Given the description of an element on the screen output the (x, y) to click on. 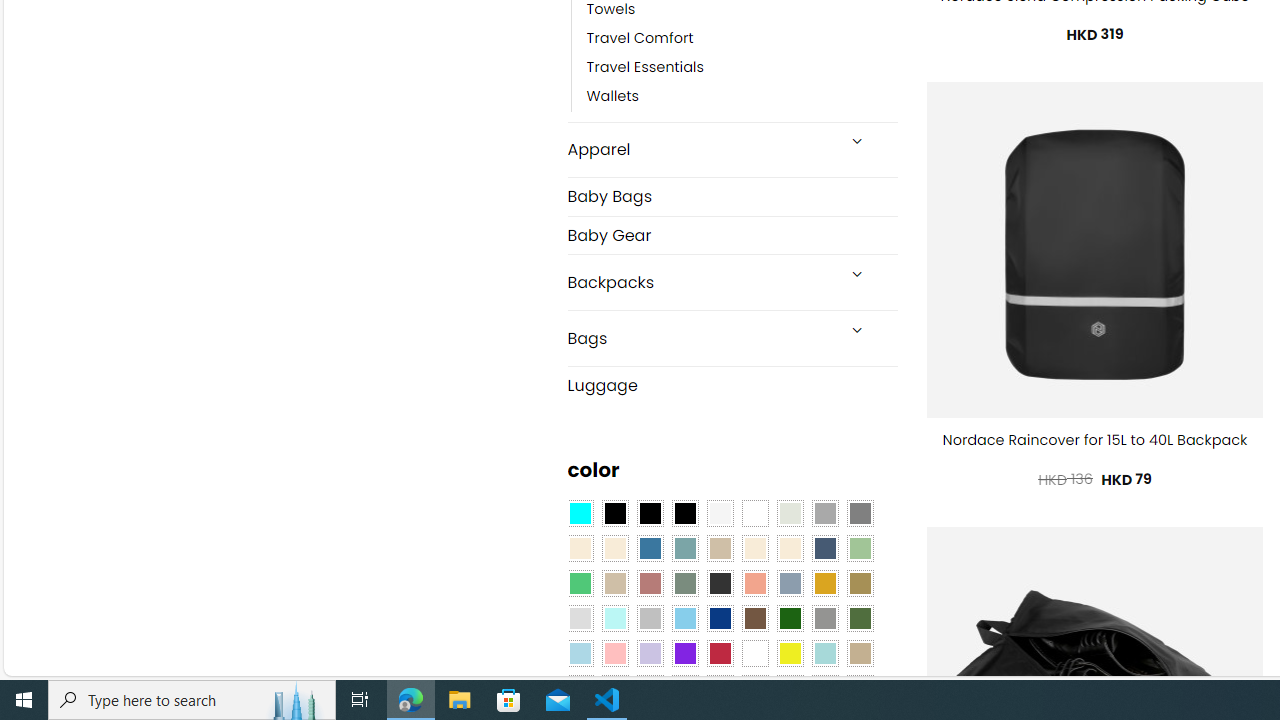
Travel Essentials (645, 67)
Kelp (859, 583)
Baby Bags (732, 196)
Khaki (859, 653)
Baby Gear (732, 235)
Charcoal (719, 583)
Mint (614, 619)
Gold (824, 583)
Light Gray (579, 619)
Cream (789, 548)
Wallets (613, 97)
Light Purple (650, 653)
Blue (650, 548)
Red (719, 653)
